Given the description of an element on the screen output the (x, y) to click on. 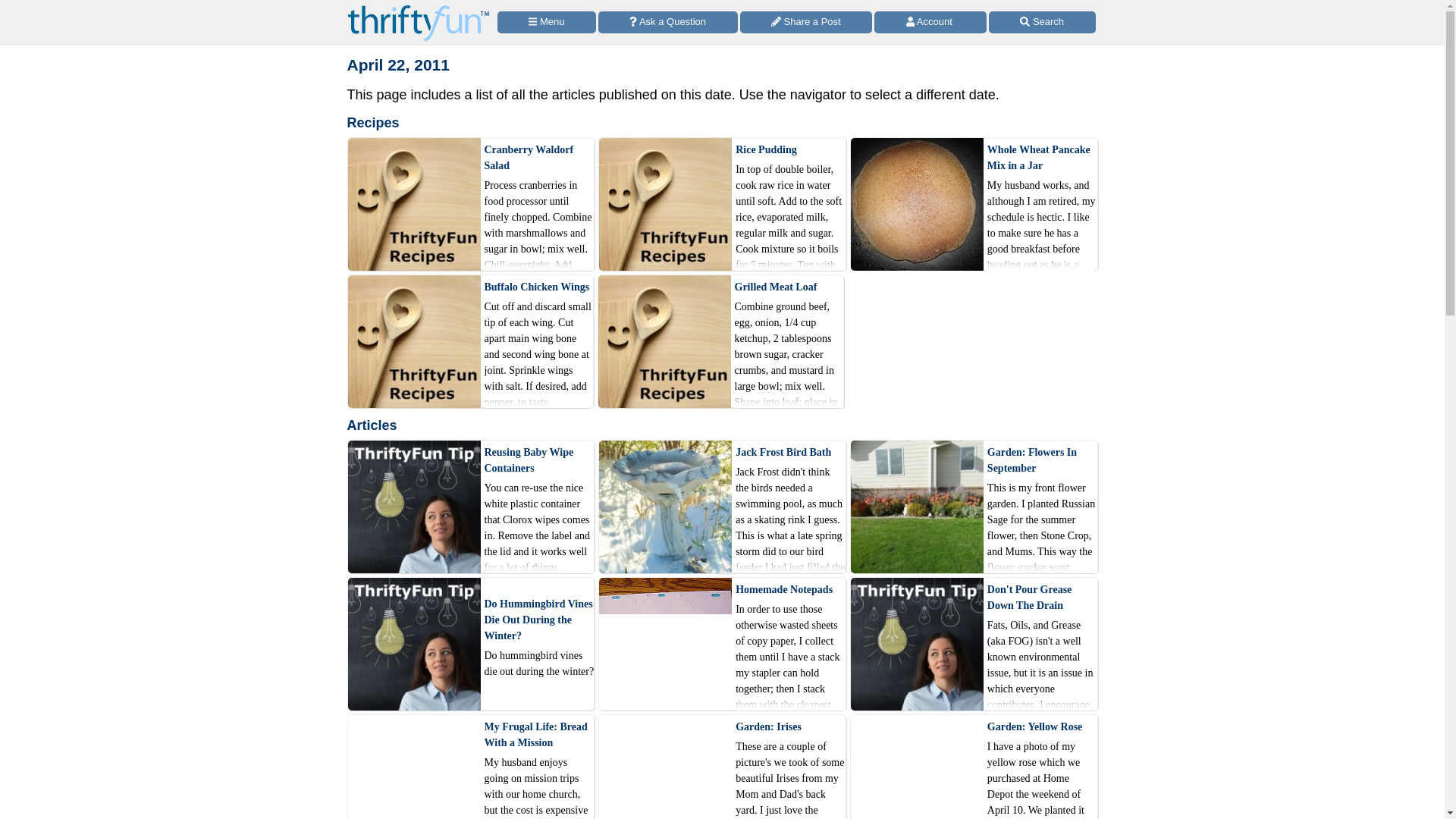
Cranberry Waldorf Salad (538, 156)
 Ask a Question (668, 22)
Do Hummingbird Vines Die Out During the Winter? (538, 619)
 Menu (546, 22)
Reusing Baby Wipe Containers (538, 459)
My Frugal Life: Bread With a Mission (538, 735)
Buffalo Chicken Wings (537, 286)
